Given the description of an element on the screen output the (x, y) to click on. 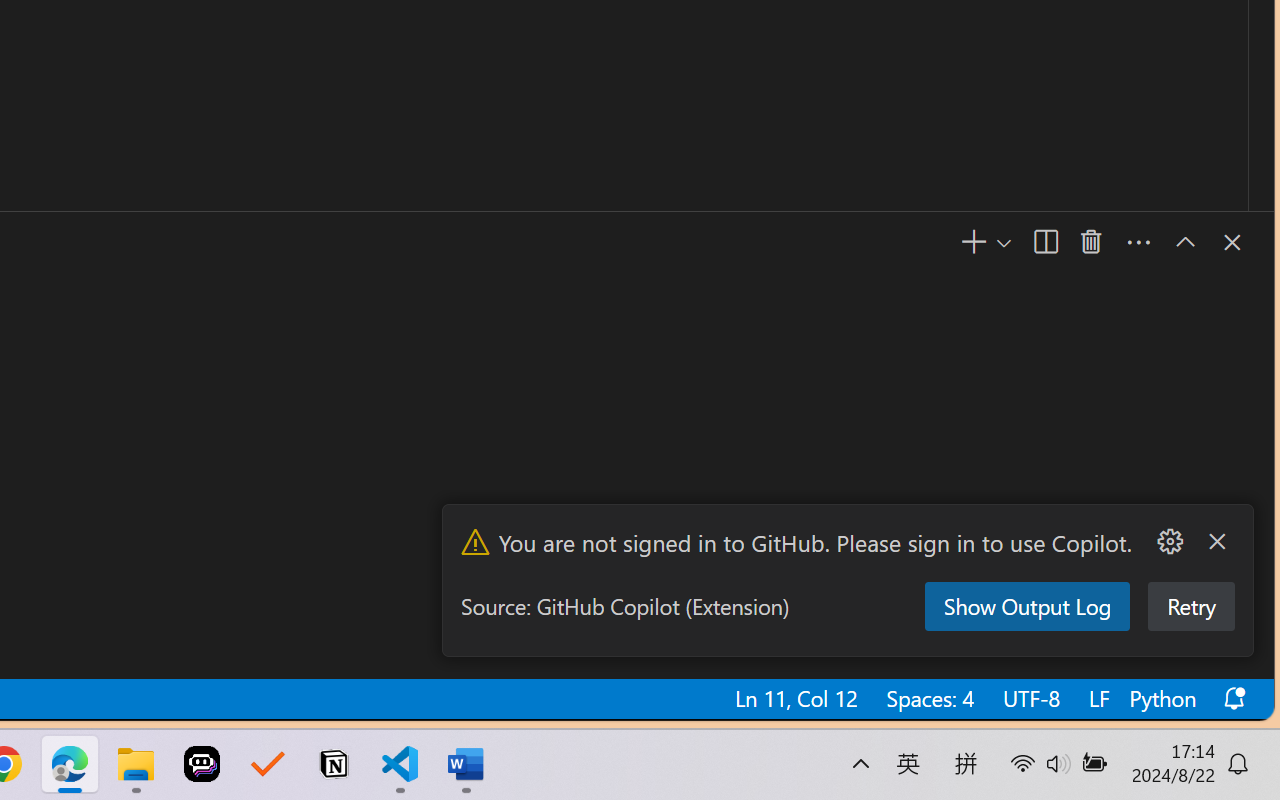
Notification Actions (1191, 542)
Clear Notification (Delete) (1215, 542)
LF (1097, 698)
Python (1161, 698)
Launch Profile... (1096, 243)
Retry (1189, 606)
Notifications (1232, 698)
